Given the description of an element on the screen output the (x, y) to click on. 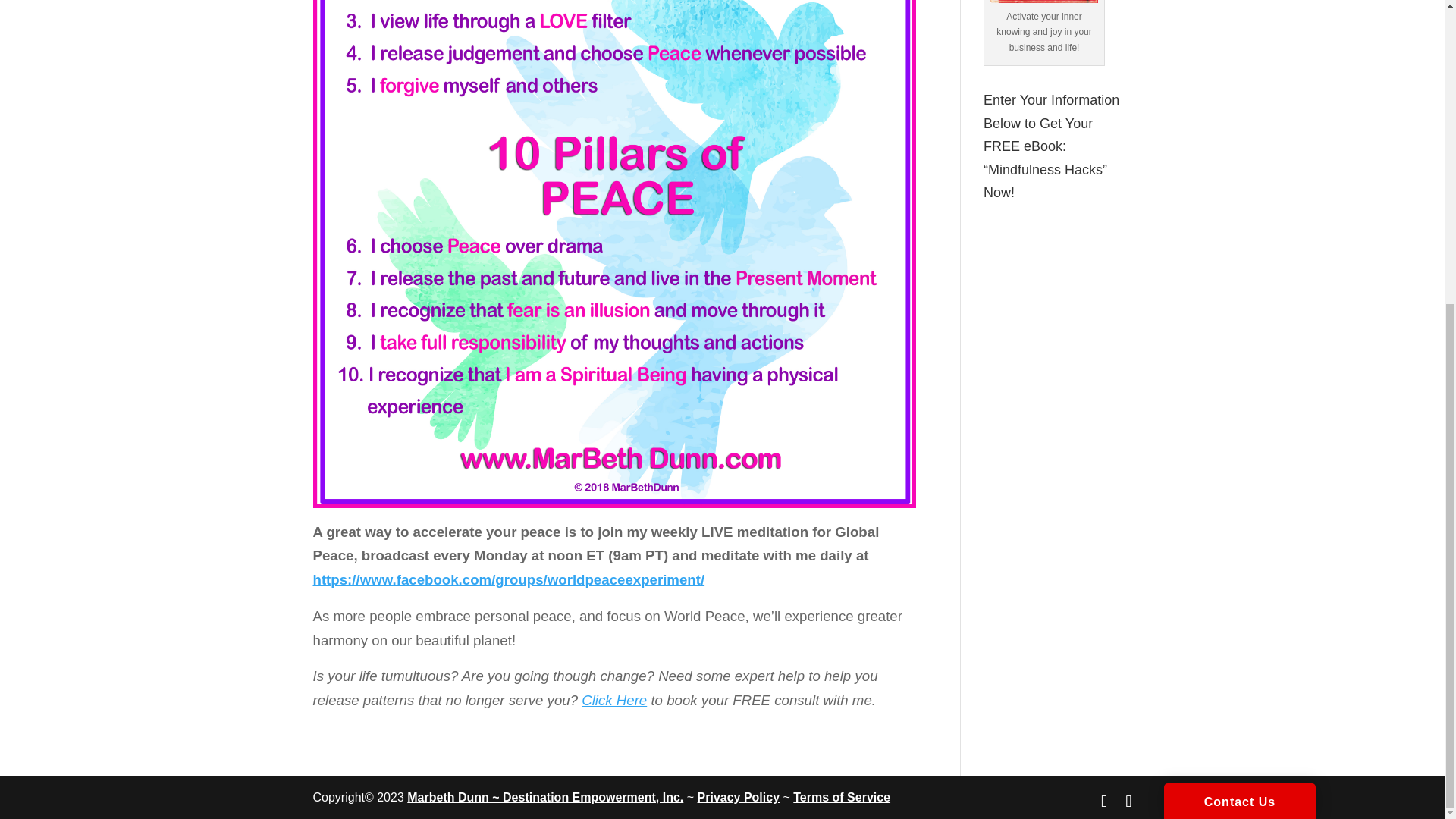
Schedule Your 60 Minute Clarity Call! (1043, 1)
Click Here (613, 700)
Privacy Policy (738, 797)
Terms of Service (841, 797)
Contact Us (1239, 324)
